Given the description of an element on the screen output the (x, y) to click on. 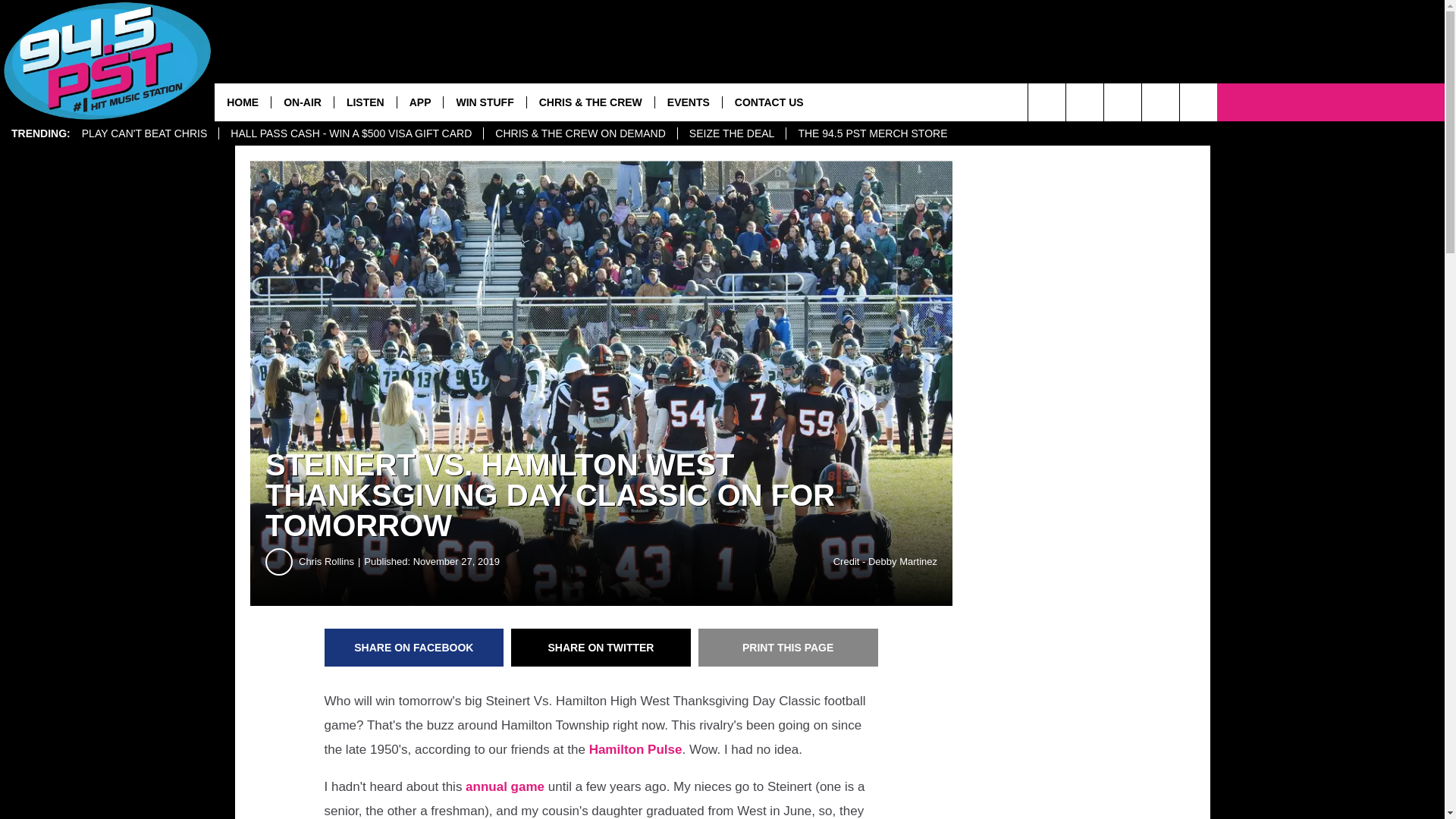
SEIZE THE DEAL (731, 133)
EVENTS (687, 102)
Print this page (787, 647)
Share on Facebook (413, 647)
HOME (242, 102)
PLAY CAN'T BEAT CHRIS (144, 133)
THE 94.5 PST MERCH STORE (872, 133)
LISTEN (364, 102)
APP (420, 102)
ON-AIR (301, 102)
